Given the description of an element on the screen output the (x, y) to click on. 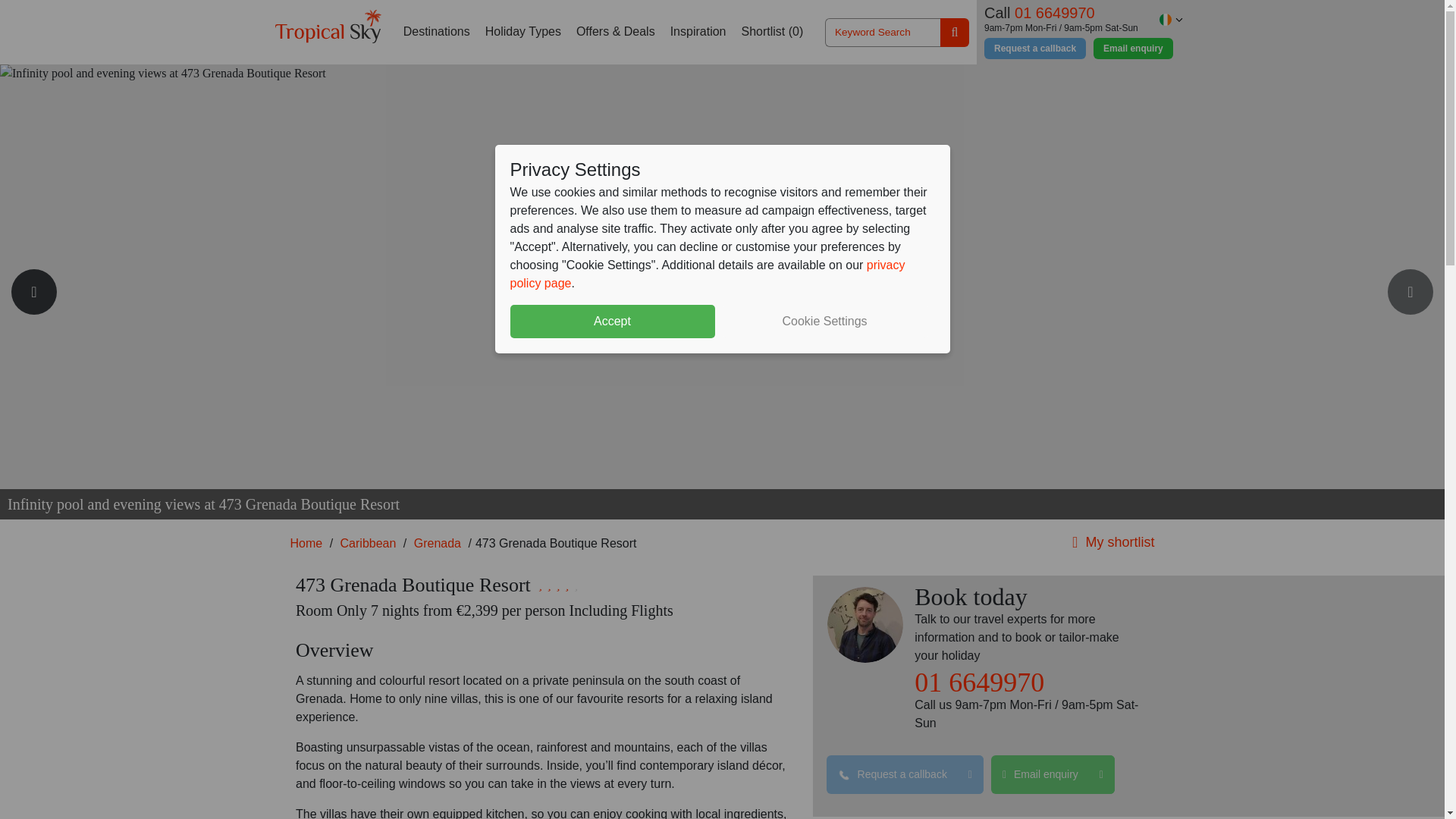
Tropical Sky (328, 26)
Destinations (436, 32)
